Given the description of an element on the screen output the (x, y) to click on. 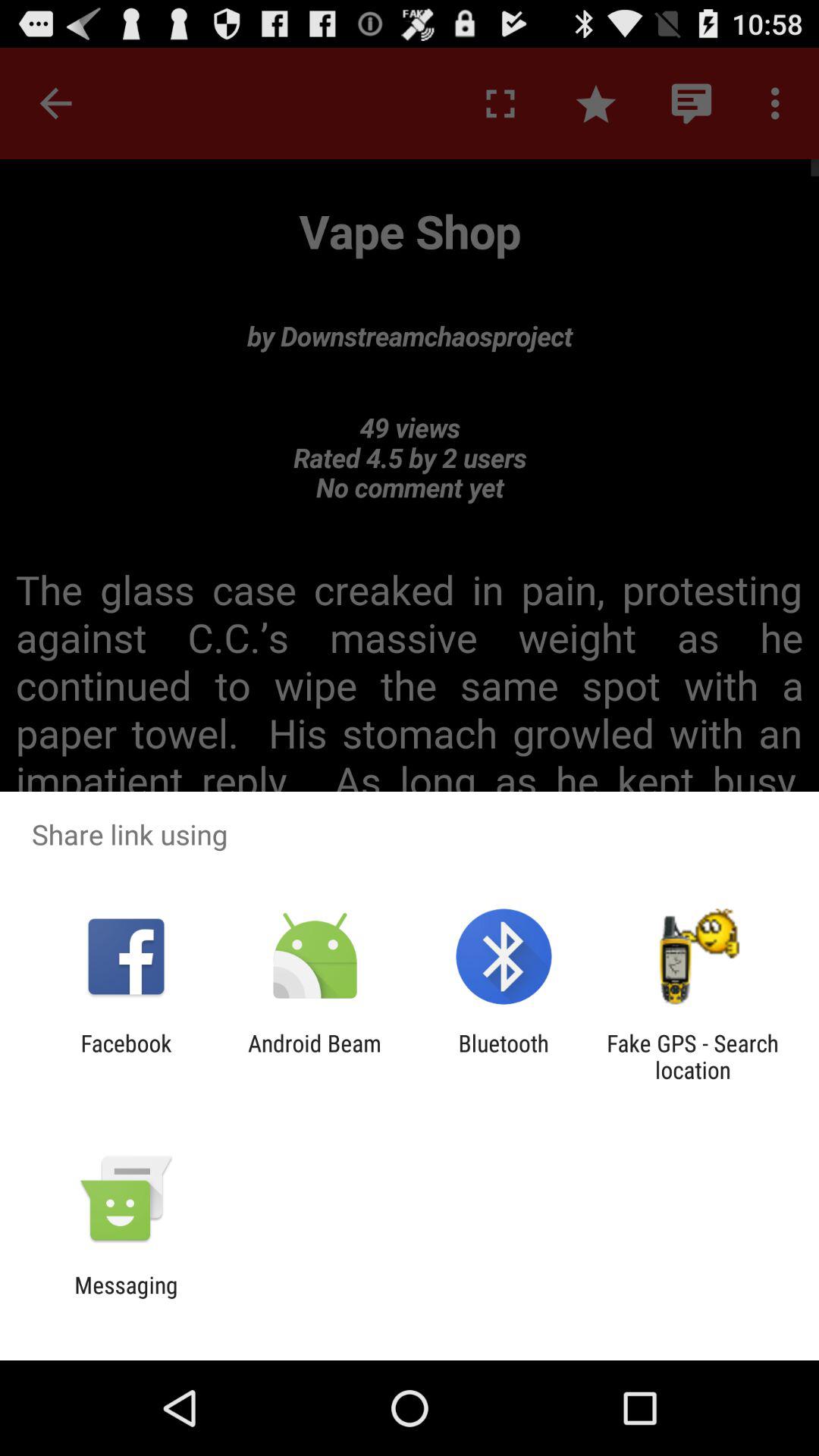
select the facebook item (125, 1056)
